Given the description of an element on the screen output the (x, y) to click on. 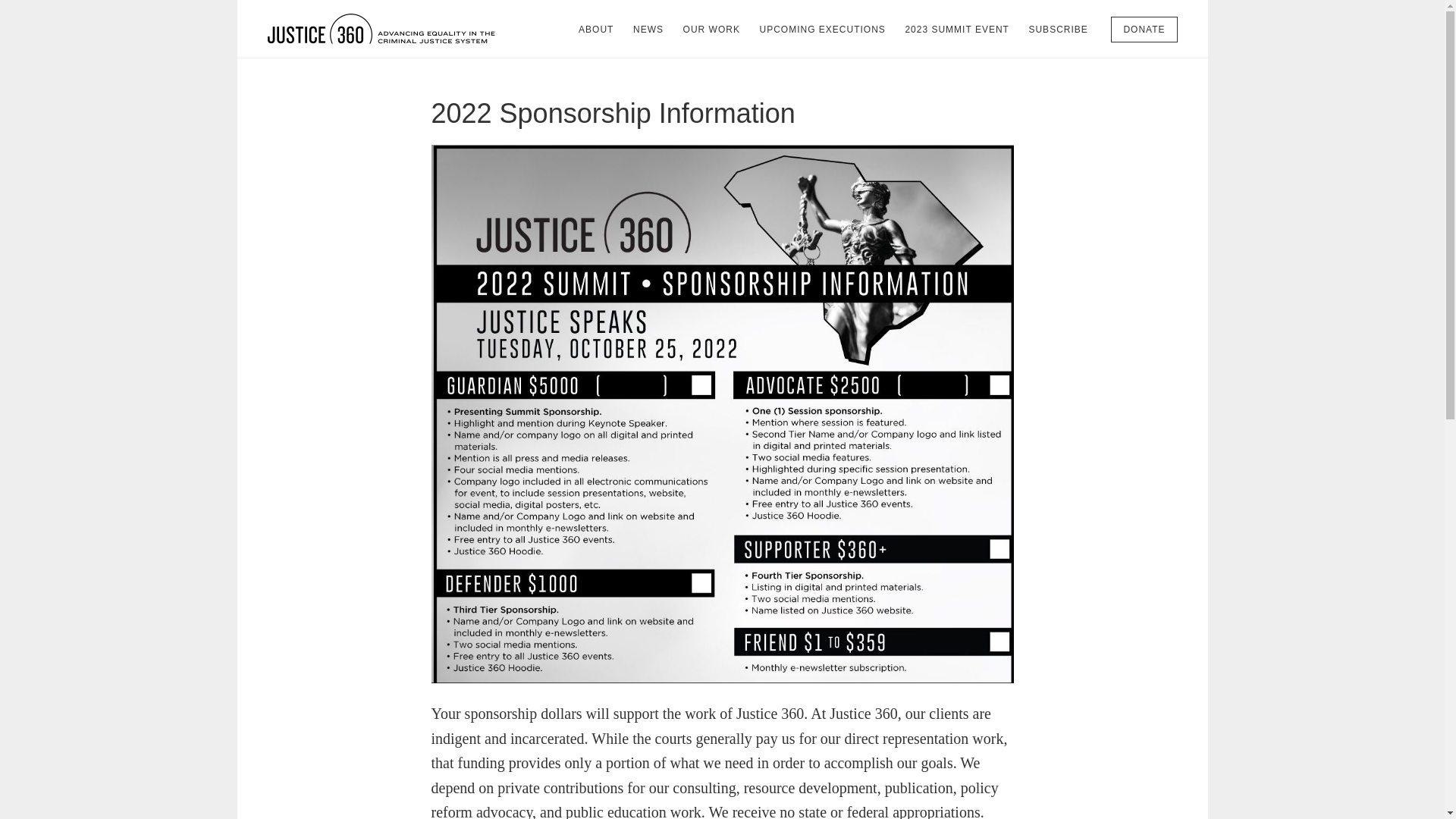
DONATE (1143, 29)
SUBSCRIBE (1057, 29)
ABOUT (595, 29)
JUSTICE360 (380, 28)
2023 SUMMIT EVENT (956, 29)
NEWS (648, 29)
OUR WORK (711, 29)
UPCOMING EXECUTIONS (821, 29)
